Given the description of an element on the screen output the (x, y) to click on. 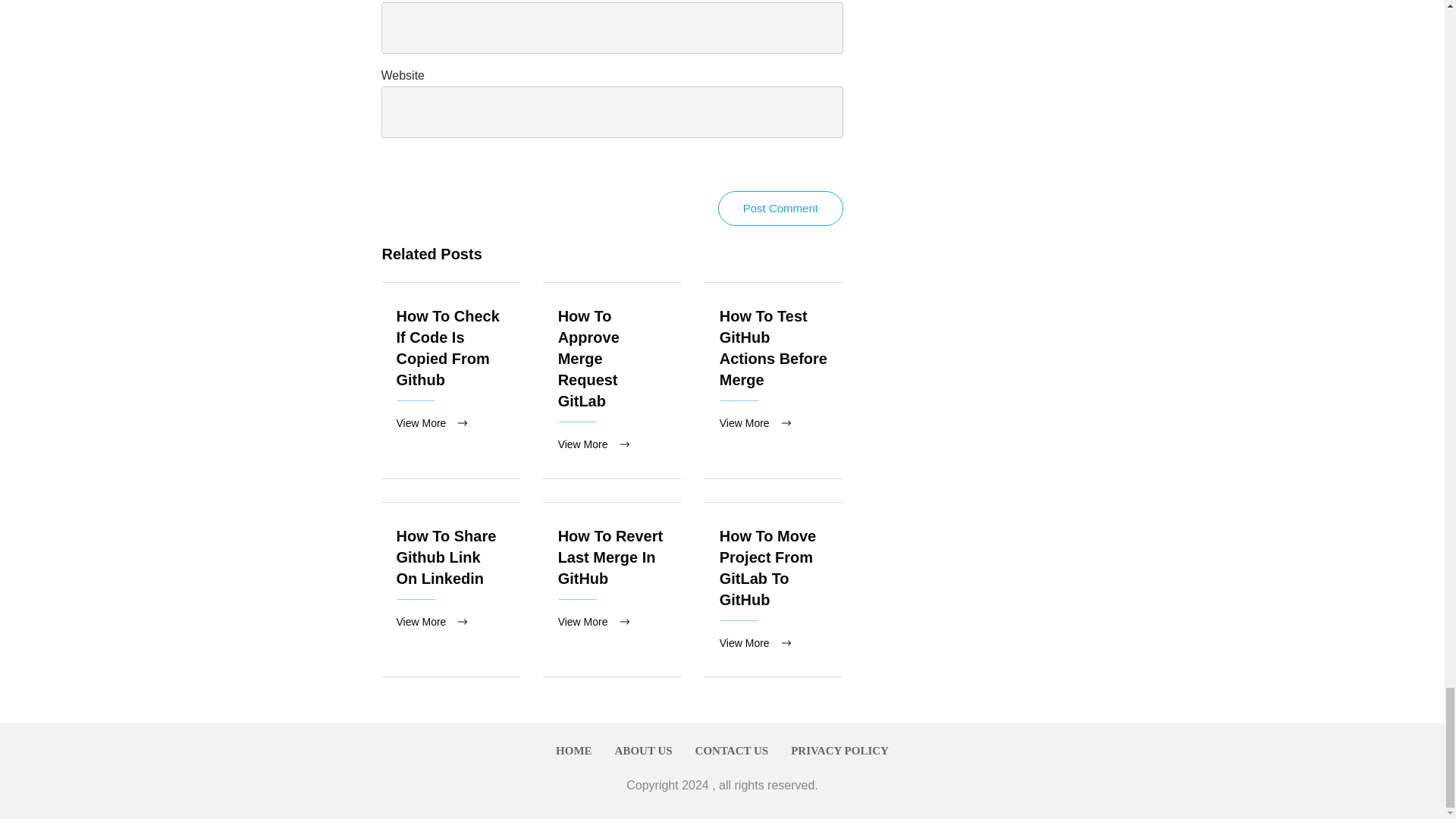
How To Check If Code Is Copied From Github (447, 347)
How To Revert Last Merge In GitHub (610, 557)
How To Test GitHub Actions Before Merge (773, 347)
How To Move Project From GitLab To GitHub (767, 567)
How To Share Github Link On Linkedin (446, 557)
